Given the description of an element on the screen output the (x, y) to click on. 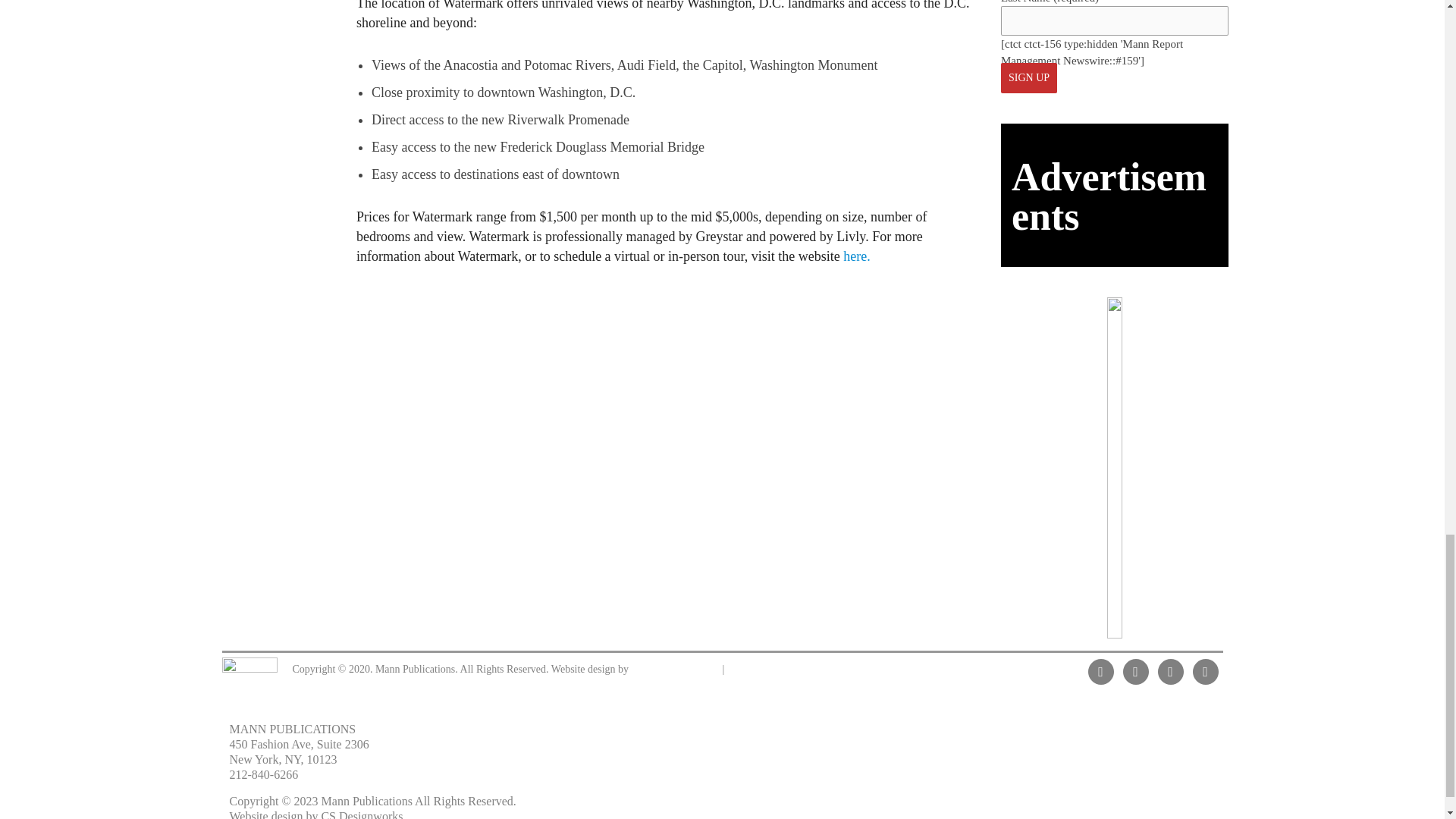
SIGN UP (1029, 78)
